Given the description of an element on the screen output the (x, y) to click on. 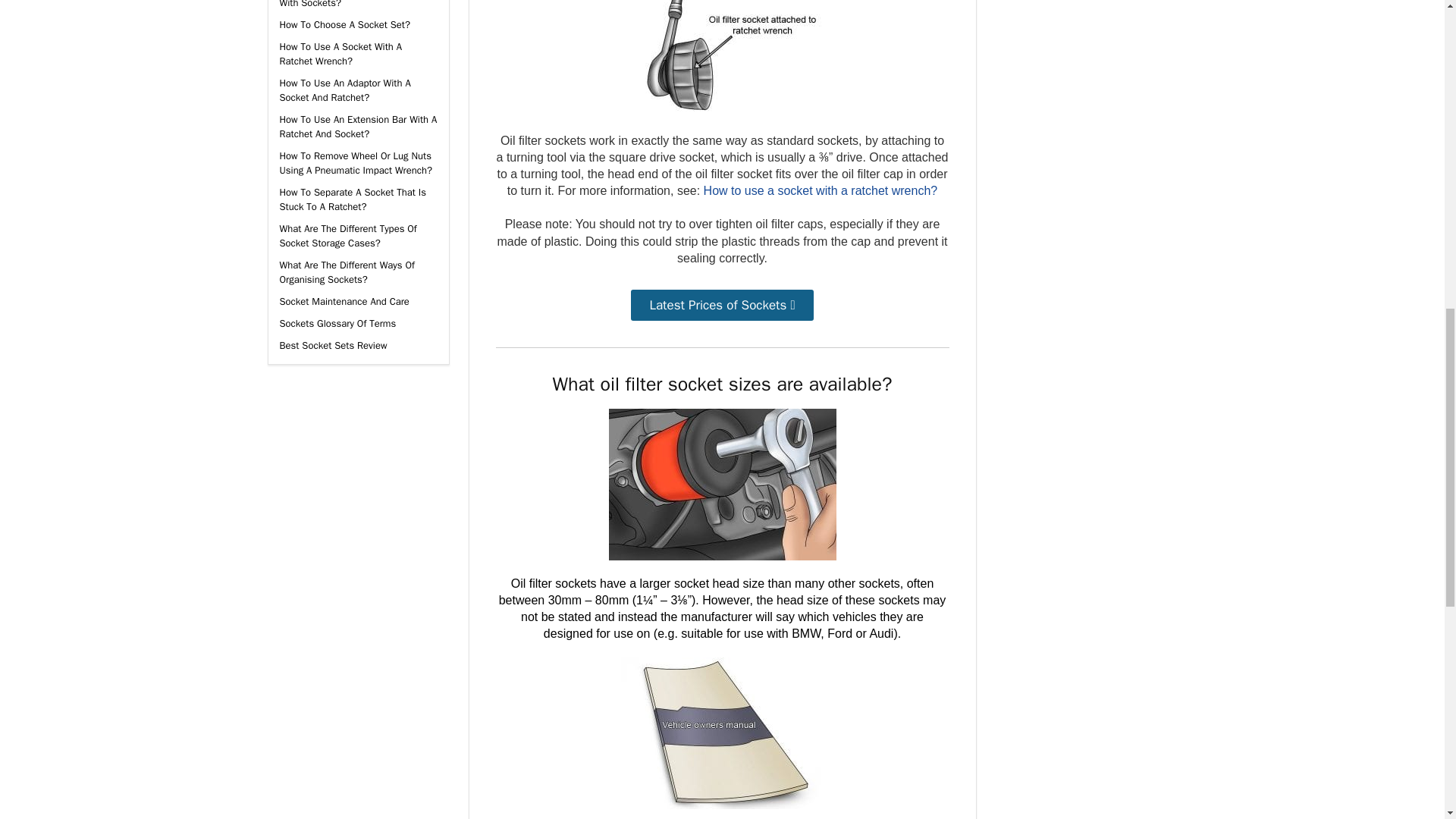
How To Use A Socket With A Ratchet Wrench? (340, 53)
How To Choose A Socket Set? (344, 24)
Which Turning Tools Can Be Used With Sockets? (351, 4)
How To Use An Adaptor With A Socket And Ratchet? (344, 90)
How To Use An Extension Bar With A Ratchet And Socket? (357, 126)
How To Separate A Socket That Is Stuck To A Ratchet? (352, 198)
